Given the description of an element on the screen output the (x, y) to click on. 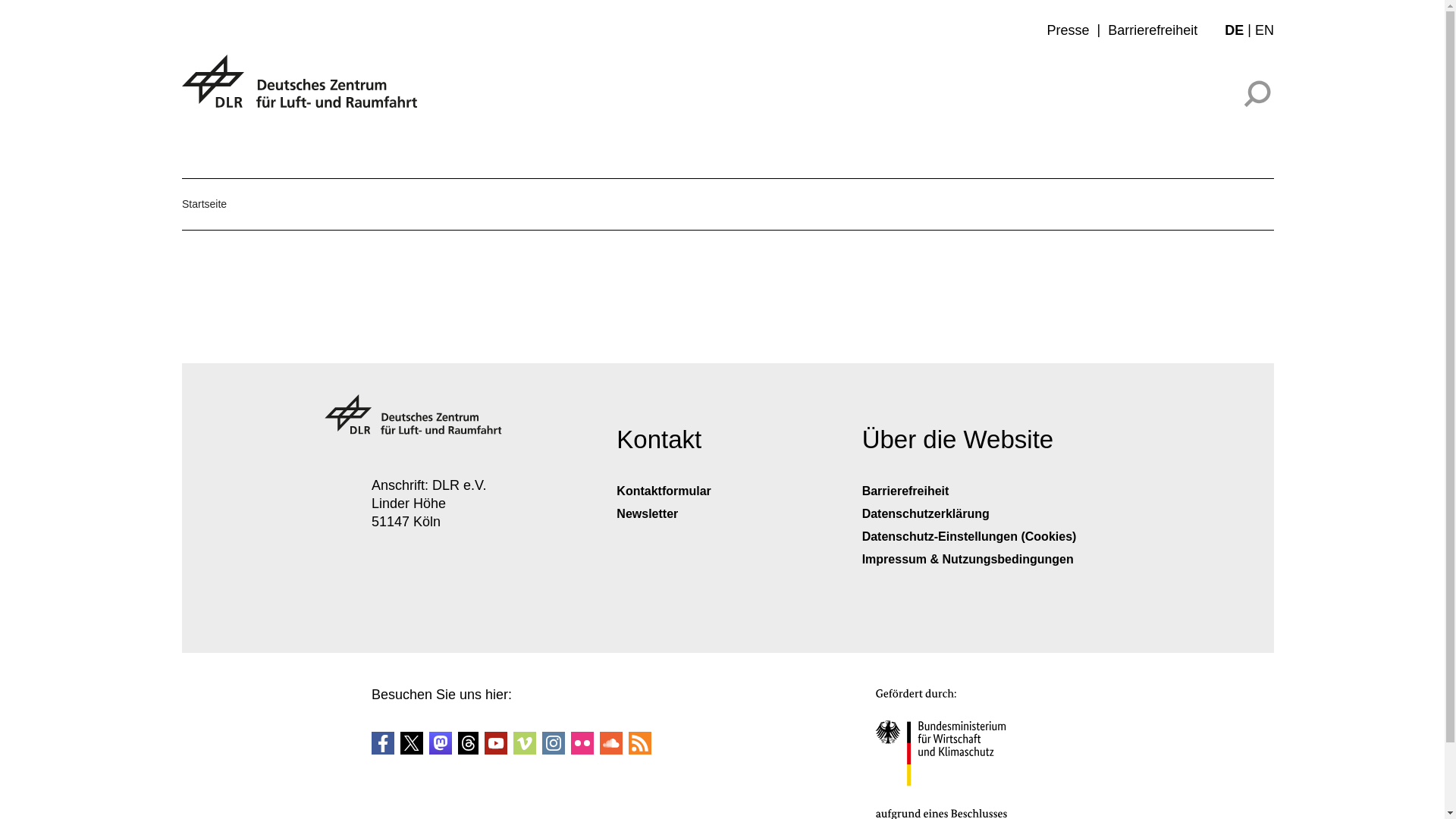
Barrierefreiheit (1152, 30)
Besuchen Sie uns auf Vimeo (524, 749)
Startseite (204, 204)
Startseite (204, 204)
Barrierefreiheit (905, 490)
Besuchen Sie uns auf X (411, 743)
Besuchen Sie uns auf YouTube (495, 749)
EN (1264, 29)
Kontaktformular (662, 490)
Besuchen Sie uns auf Facebook (382, 743)
Besuchen Sie uns auf Mastodon (440, 743)
Besuchen Sie uns auf Facebook (382, 749)
Besuchen Sie uns auf Threads (468, 743)
Besuchen Sie uns auf RSS (639, 749)
Besuchen Sie uns auf Flicker (582, 749)
